Given the description of an element on the screen output the (x, y) to click on. 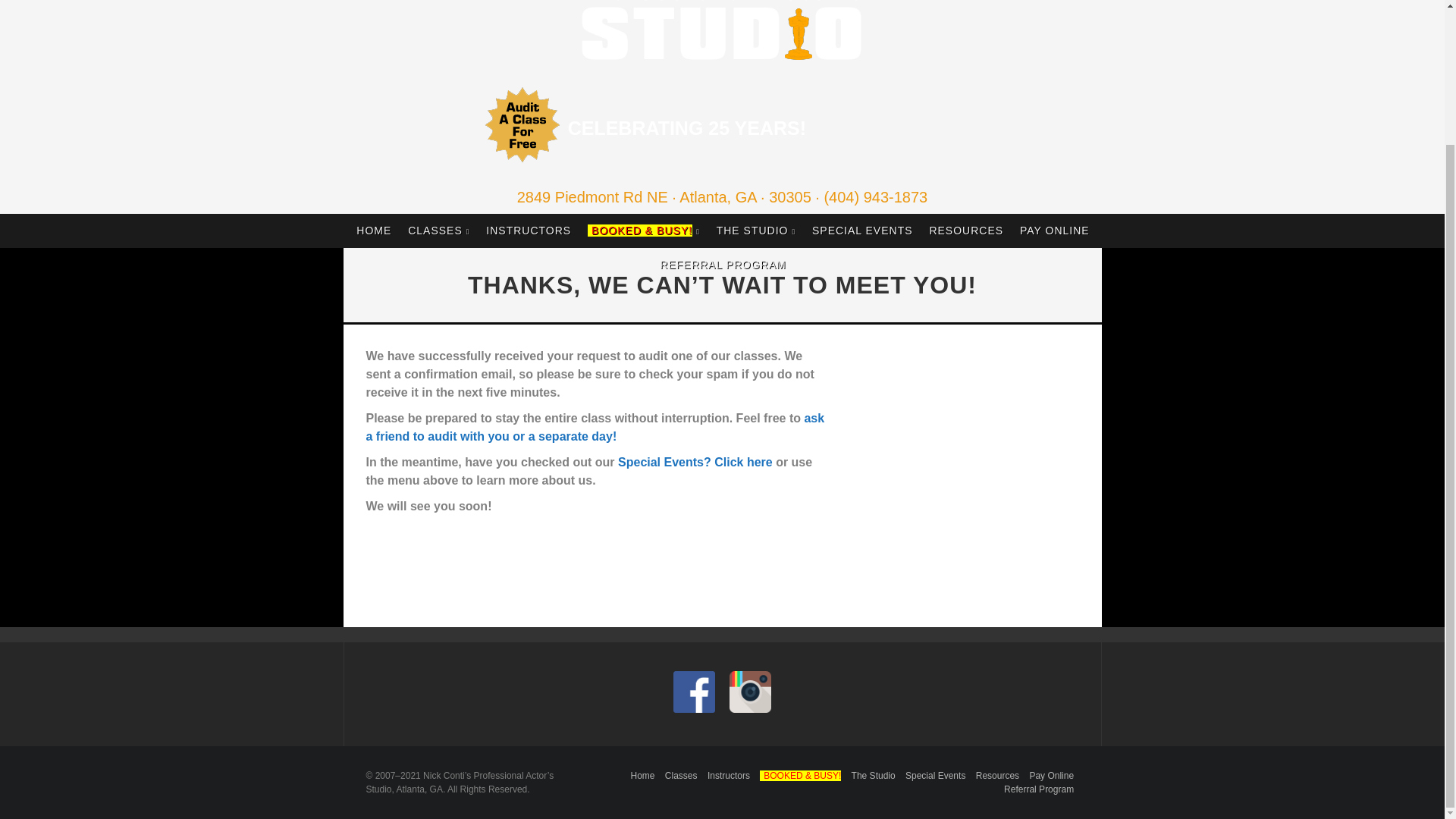
HOME (373, 230)
CLASSES (438, 230)
CELEBRATING 25 YEARS! (686, 127)
